Given the description of an element on the screen output the (x, y) to click on. 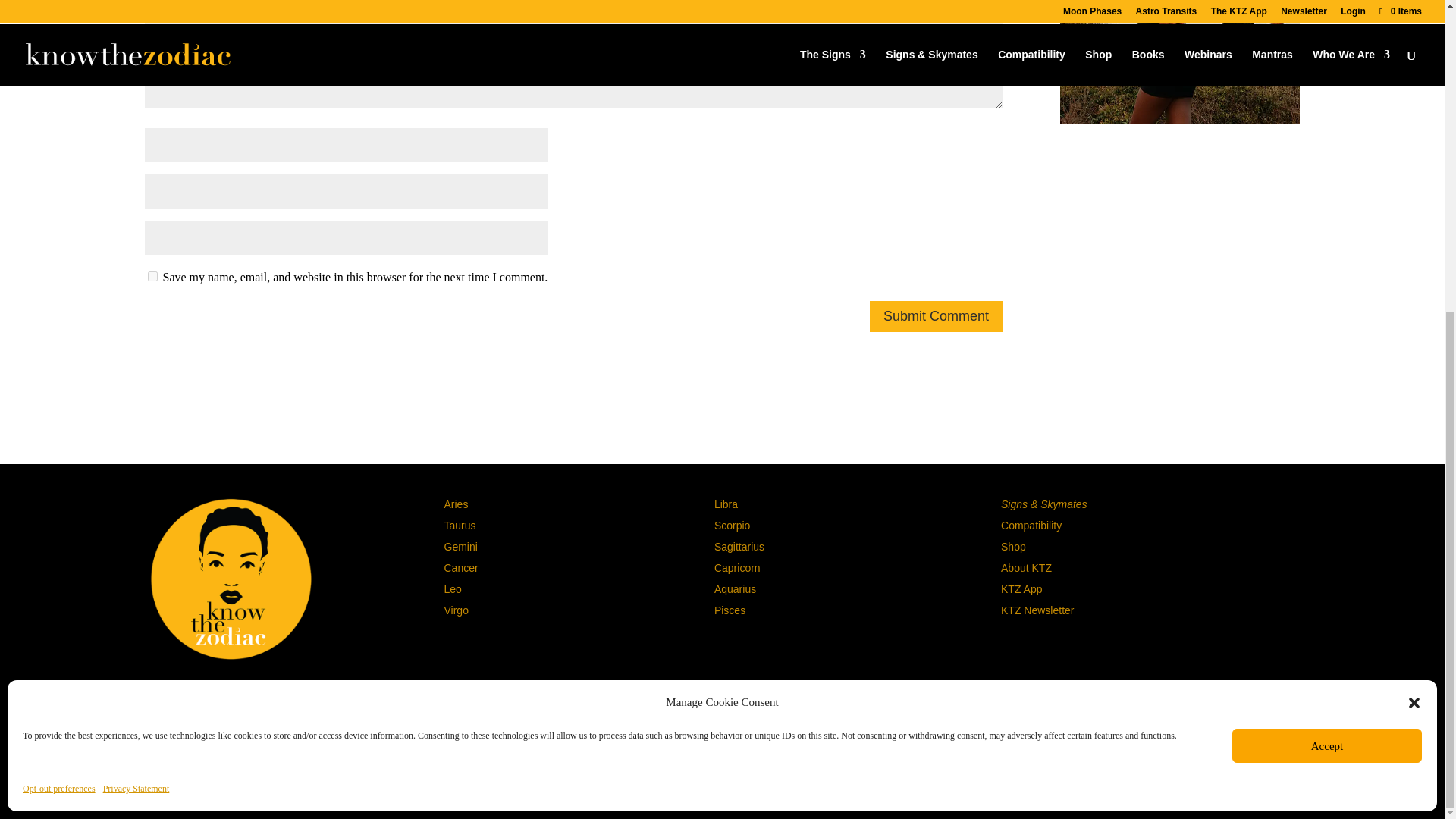
Follow on Twitter (230, 693)
RAM Creates design portfolio (925, 778)
Submit Comment (936, 316)
Follow on Facebook (257, 693)
Privacy Statement (136, 292)
Opt-out preferences (59, 292)
Follow on Instagram (203, 693)
yes (152, 276)
Accept (1326, 248)
cropped-know-the-zodiac-ogo-cirlcle-512.png (230, 578)
